Given the description of an element on the screen output the (x, y) to click on. 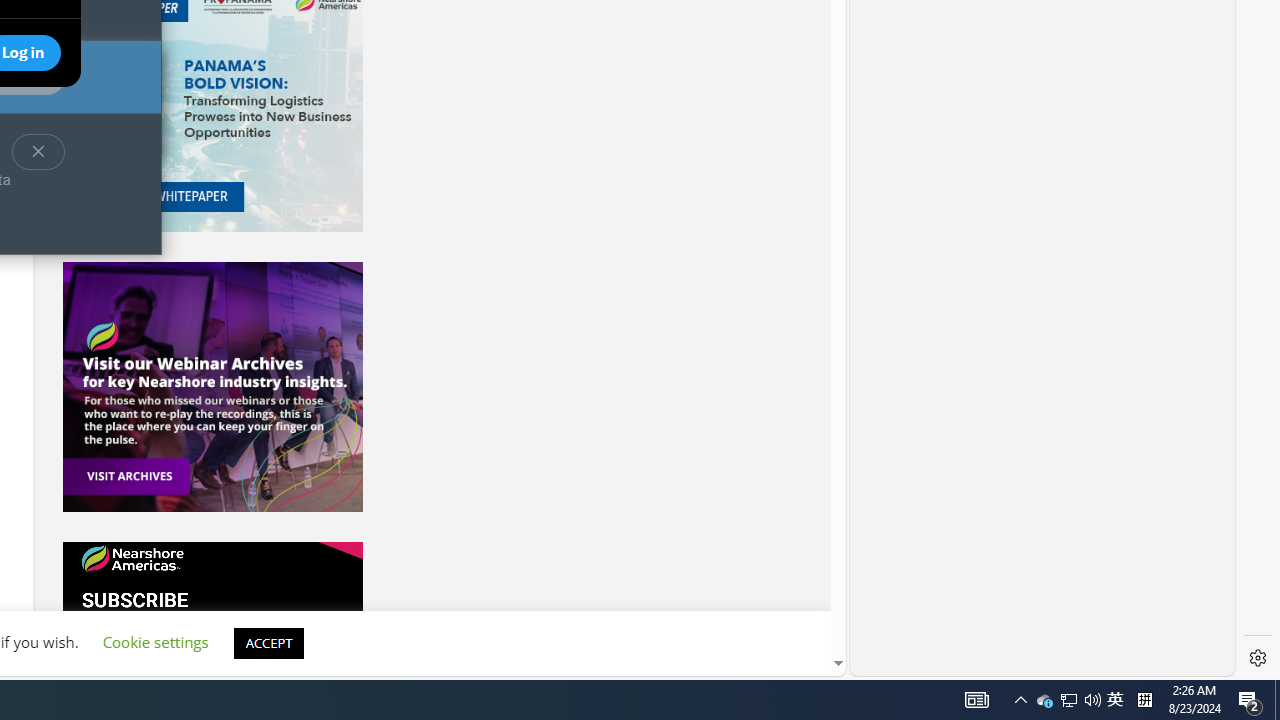
Events-Banner-Ad.jpg (212, 386)
Events-Banner-Ad.jpg (1115, 699)
ACCEPT (212, 386)
